Given the description of an element on the screen output the (x, y) to click on. 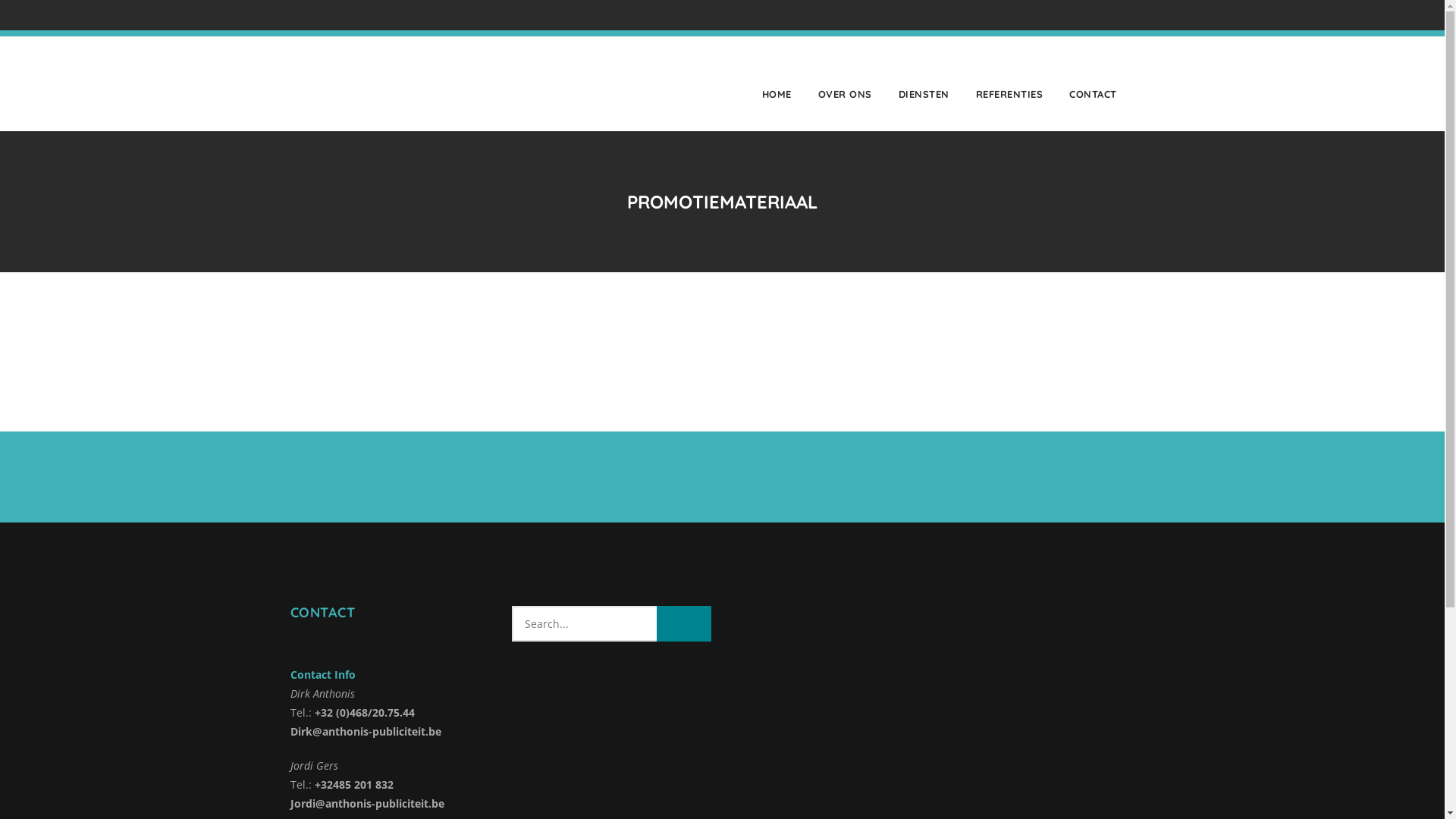
Search... Element type: hover (611, 623)
DIENSTEN Element type: text (928, 83)
HOME Element type: text (781, 83)
Dirk@anthonis-publiciteit.be Element type: text (364, 731)
Jordi@anthonis-publiciteit.be Element type: text (366, 803)
CONTACT Element type: text (1093, 83)
OVER ONS Element type: text (849, 83)
REFERENTIES Element type: text (1014, 83)
+32 (0)468/20.75.44 Element type: text (363, 712)
